Given the description of an element on the screen output the (x, y) to click on. 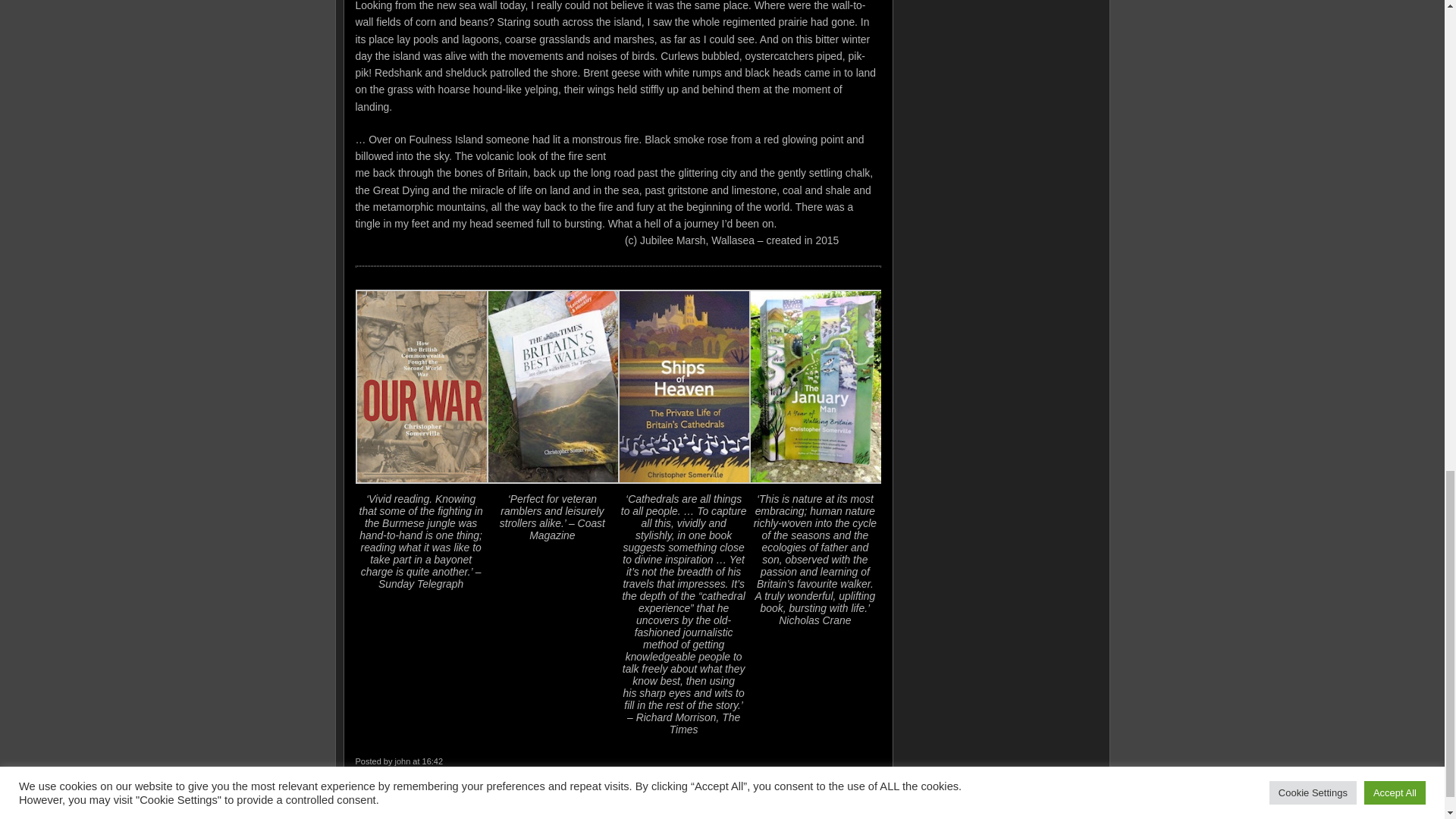
Christopher Somerville (395, 804)
john (402, 760)
Suffusion theme by Sayontan Sinha (1034, 804)
